Given the description of an element on the screen output the (x, y) to click on. 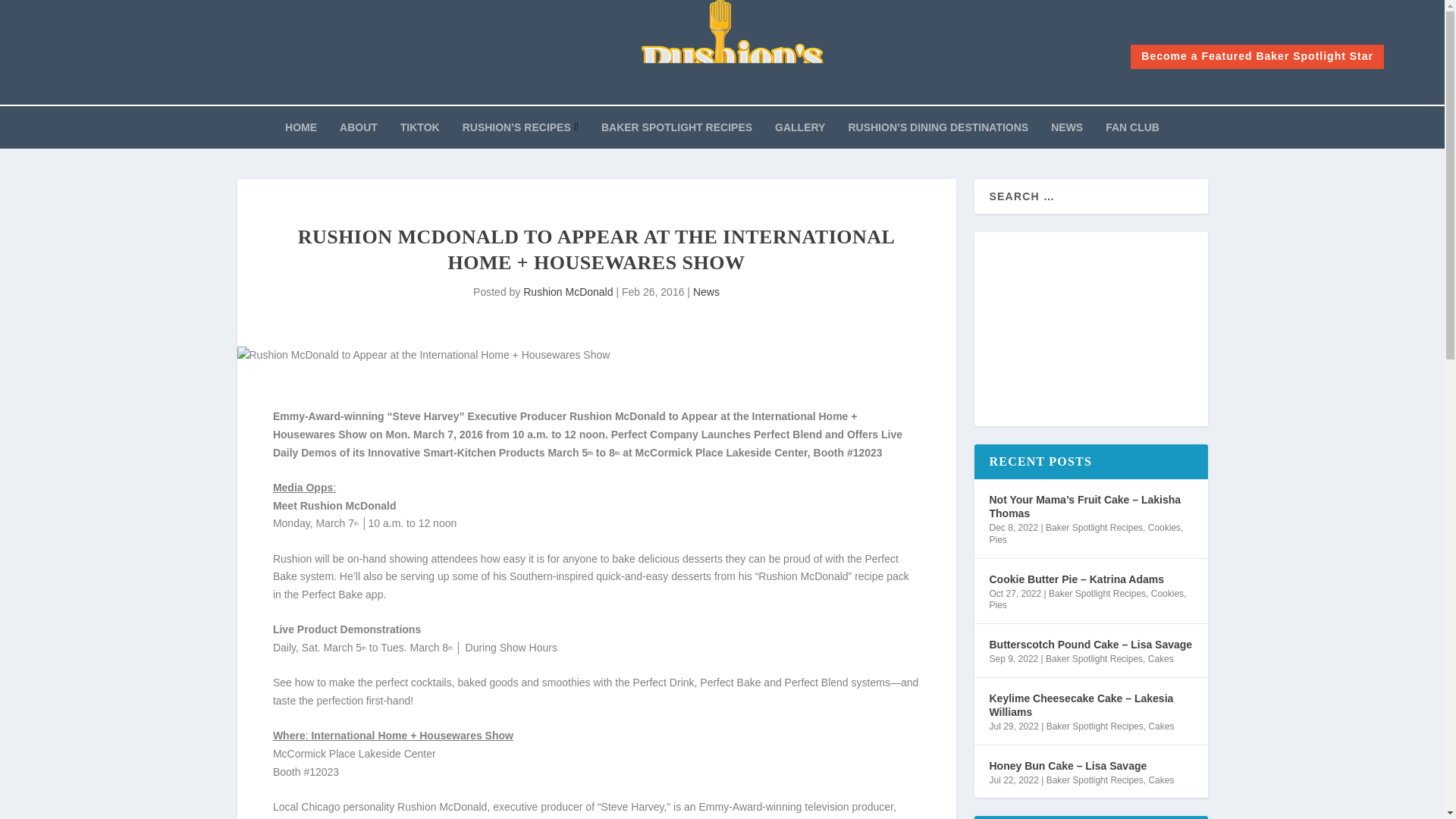
NEWS (1067, 134)
FAN CLUB (1131, 134)
Posts by Rushion McDonald (567, 291)
TIKTOK (419, 134)
Baker Spotlight Recipes (1093, 527)
News (706, 291)
Become a Featured Baker Spotlight Star (1257, 56)
HOME (301, 134)
Search (31, 13)
Rushion McDonald (567, 291)
